Given the description of an element on the screen output the (x, y) to click on. 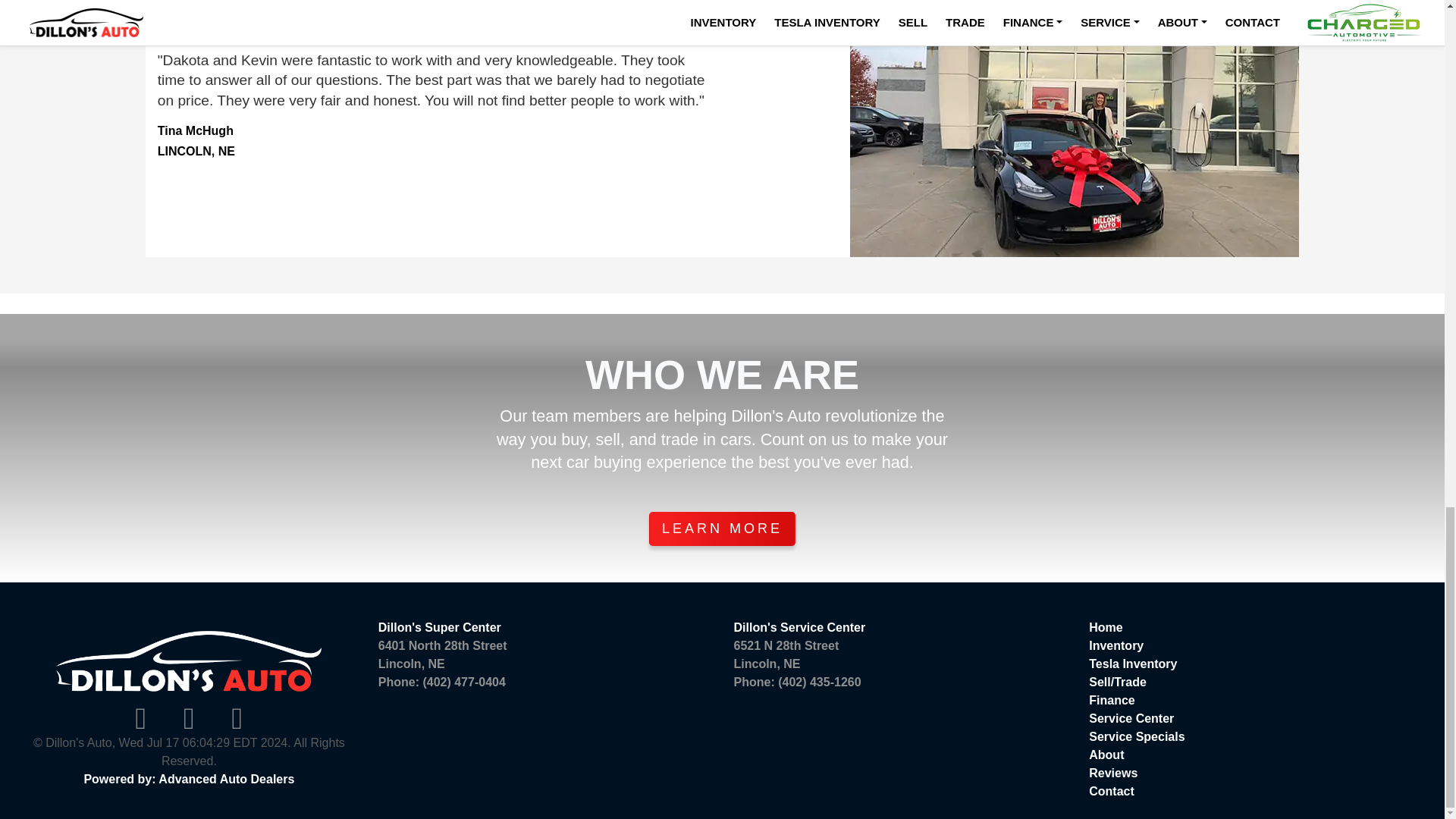
Service Specials (1137, 736)
About (1106, 754)
Service Center (1131, 717)
Dillon's Service Center (799, 626)
Finance (786, 654)
Contact (1111, 699)
Dillon's Super Center (1111, 790)
Tesla Inventory (442, 654)
Powered by: Advanced Auto Dealers (439, 626)
Inventory (1132, 663)
Reviews (188, 779)
Home (1115, 645)
LEARN MORE (1113, 772)
